Given the description of an element on the screen output the (x, y) to click on. 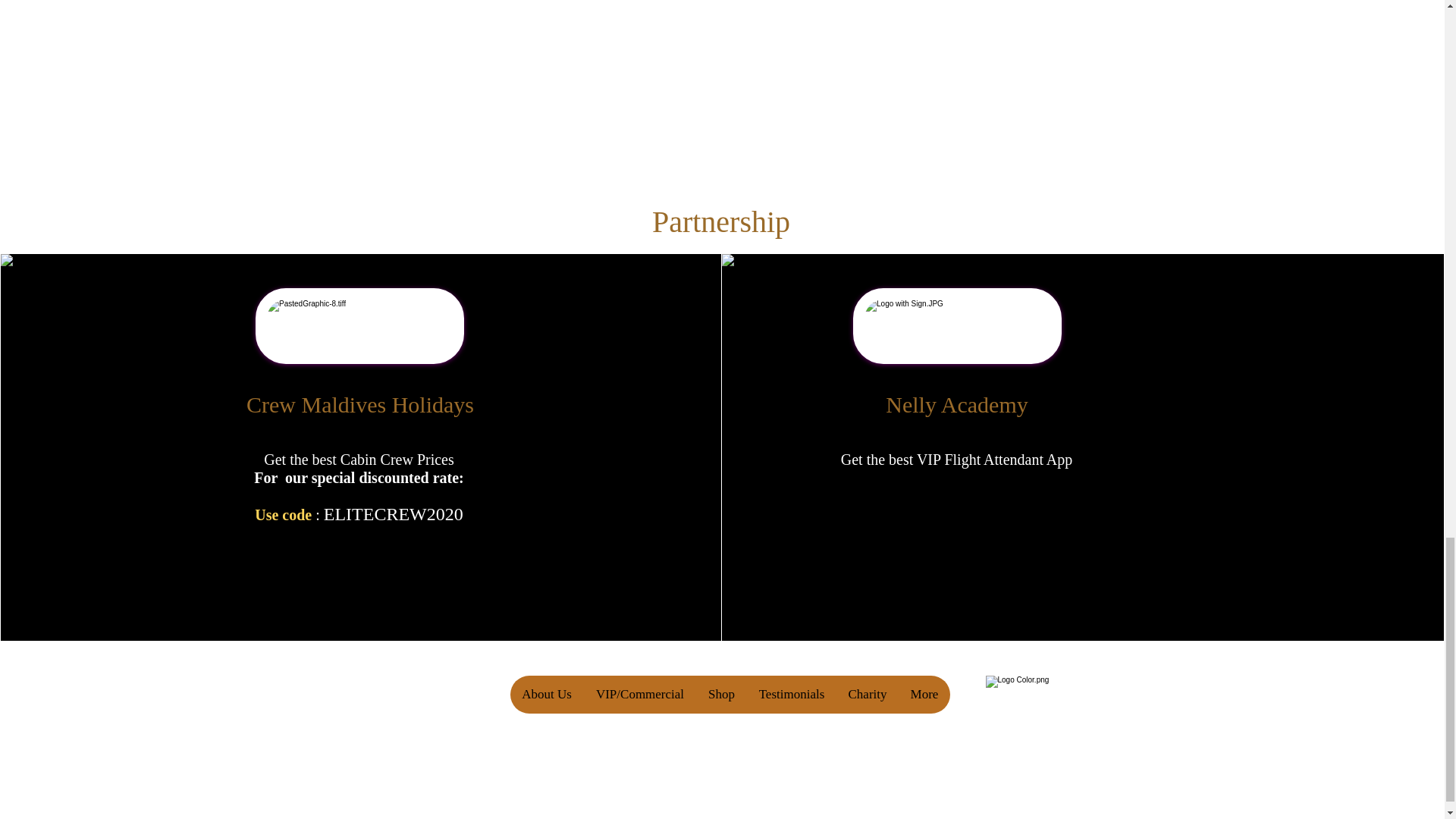
Testimonials (790, 694)
About Us (546, 694)
guy4.jpg (957, 325)
Shop (720, 694)
guy4.jpg (360, 325)
Charity (866, 694)
